Given the description of an element on the screen output the (x, y) to click on. 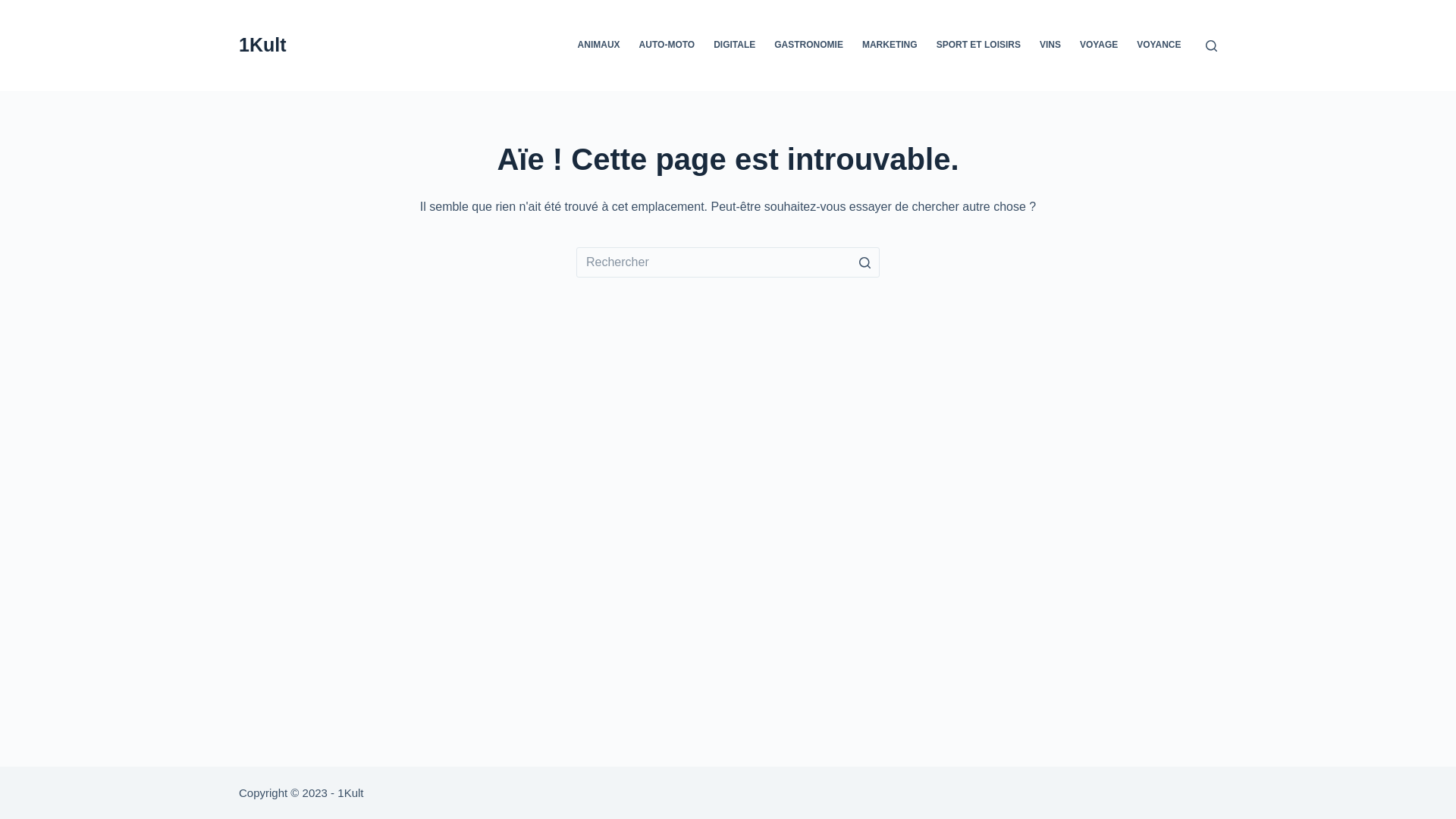
ANIMAUX Element type: text (598, 45)
Passer au contenu Element type: text (15, 7)
VINS Element type: text (1049, 45)
DIGITALE Element type: text (734, 45)
VOYANCE Element type: text (1158, 45)
VOYAGE Element type: text (1098, 45)
SPORT ET LOISIRS Element type: text (977, 45)
MARKETING Element type: text (889, 45)
GASTRONOMIE Element type: text (809, 45)
AUTO-MOTO Element type: text (666, 45)
1Kult Element type: text (262, 44)
